Given the description of an element on the screen output the (x, y) to click on. 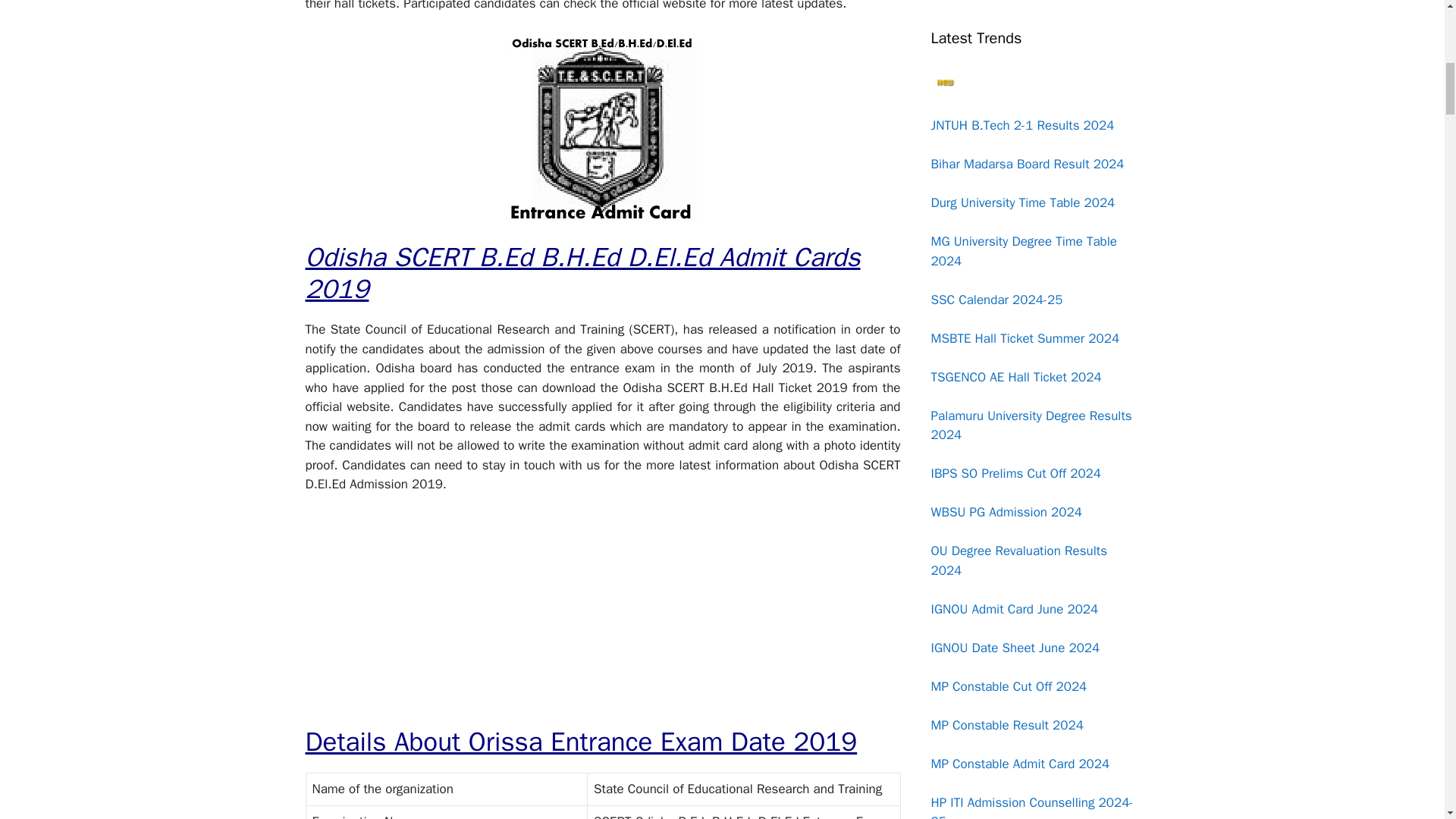
Bihar Madarsa Board Result 2024 (1027, 163)
Durg University Time Table 2024 (1023, 202)
Advertisement (601, 619)
JNTUH B.Tech 2-1 Results 2024 (1023, 125)
